Given the description of an element on the screen output the (x, y) to click on. 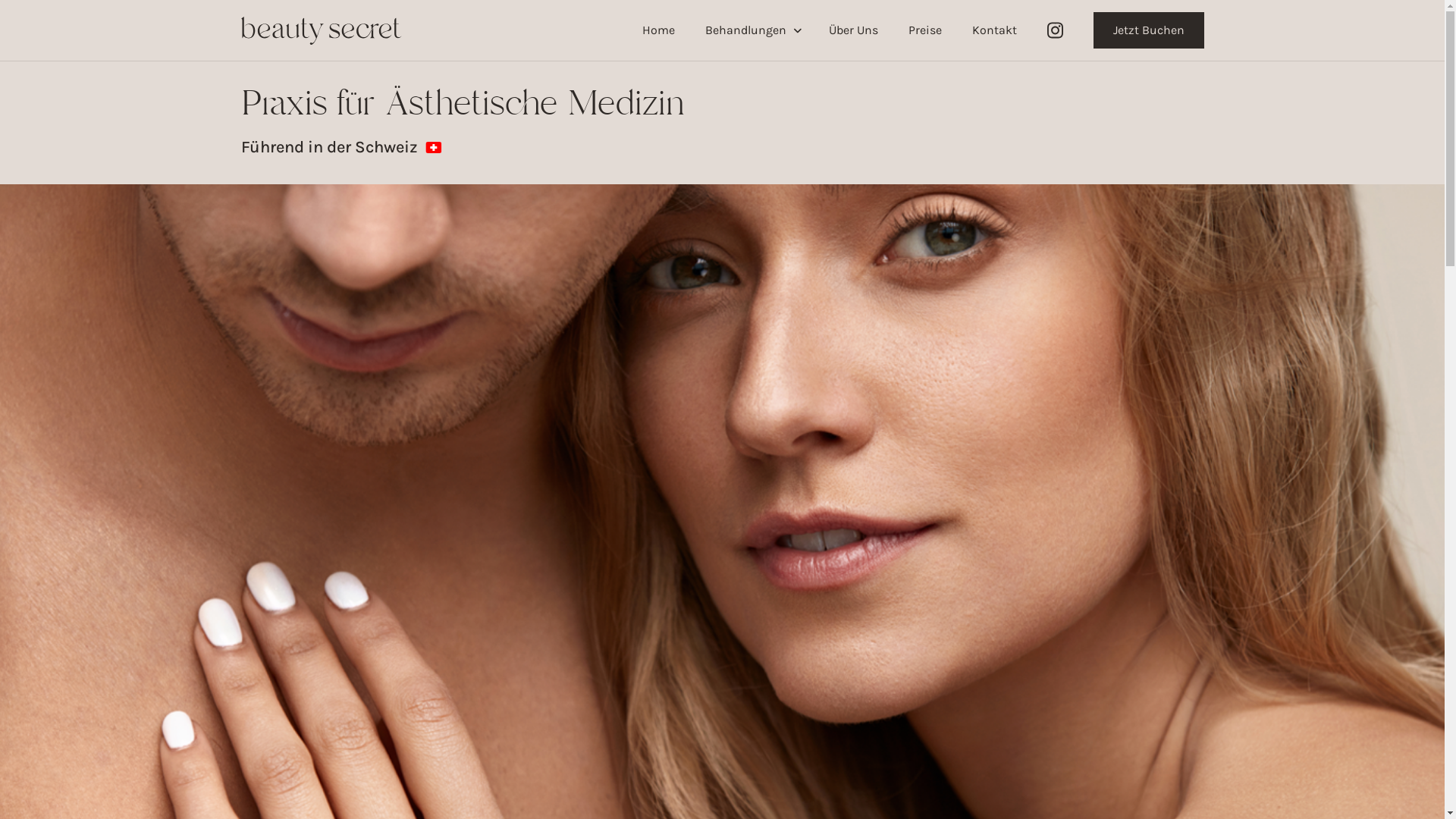
Behandlungen Element type: text (751, 29)
Home Element type: text (657, 29)
Preise Element type: text (924, 29)
Jetzt Buchen Element type: text (1148, 30)
Kontakt Element type: text (994, 29)
